Given the description of an element on the screen output the (x, y) to click on. 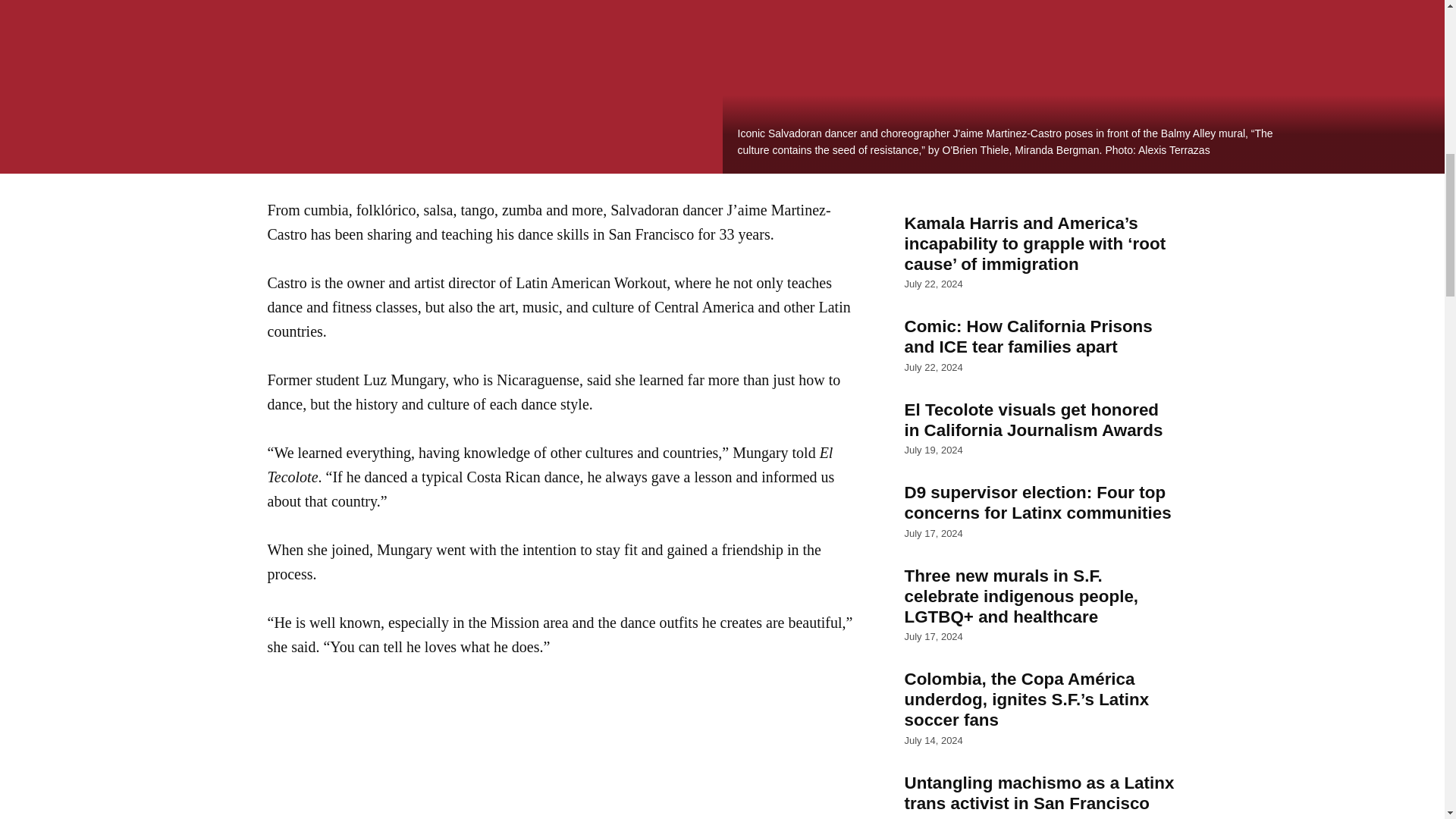
Comic: How California Prisons and ICE tear families apart (1040, 337)
